Given the description of an element on the screen output the (x, y) to click on. 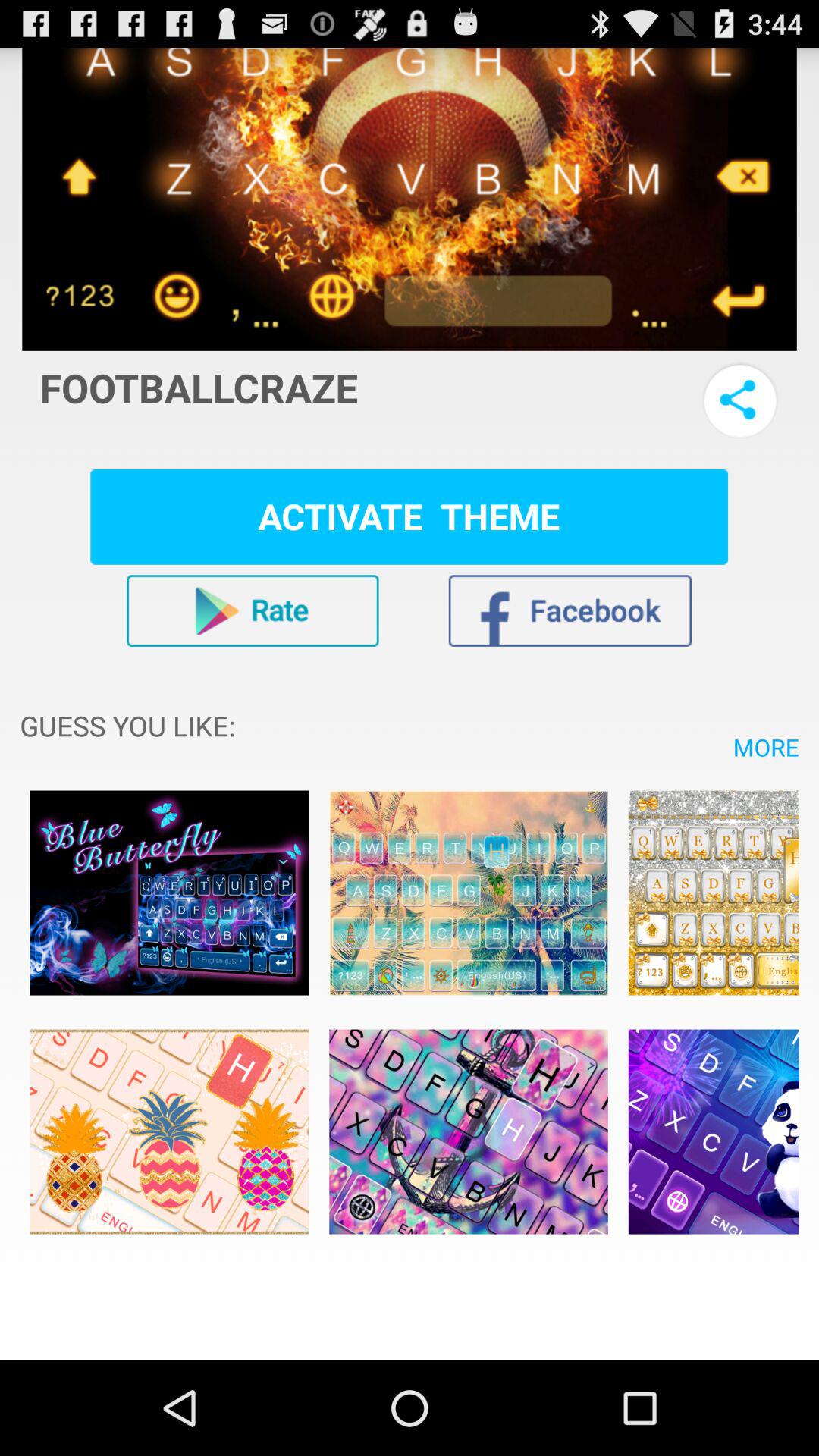
selecting the other theme (169, 892)
